Given the description of an element on the screen output the (x, y) to click on. 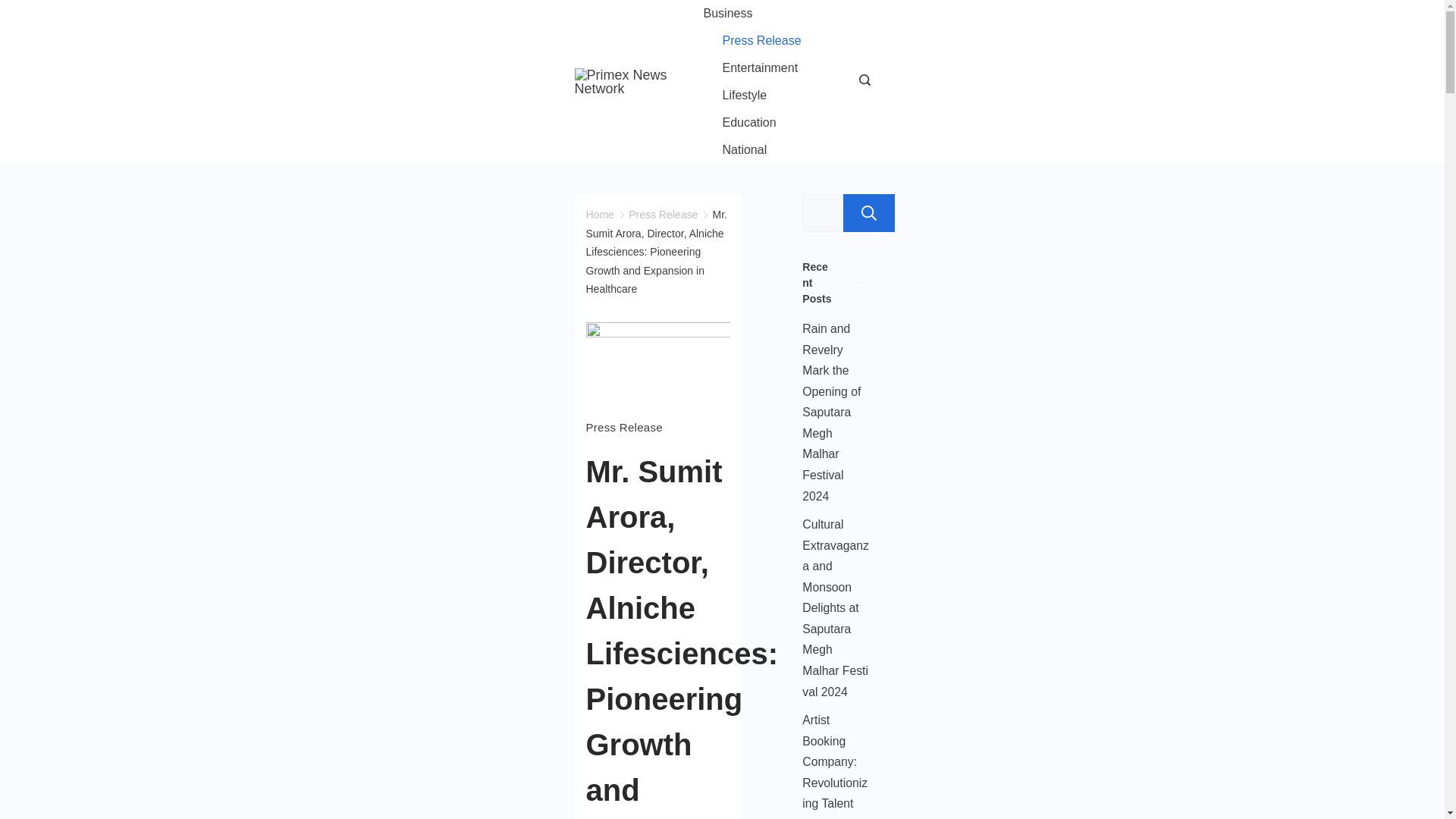
National (735, 149)
Press Release (623, 427)
Press Release (762, 40)
Home (598, 214)
Business (737, 13)
Lifestyle (744, 94)
Press Release (662, 214)
Education (748, 122)
Entertainment (759, 67)
